Given the description of an element on the screen output the (x, y) to click on. 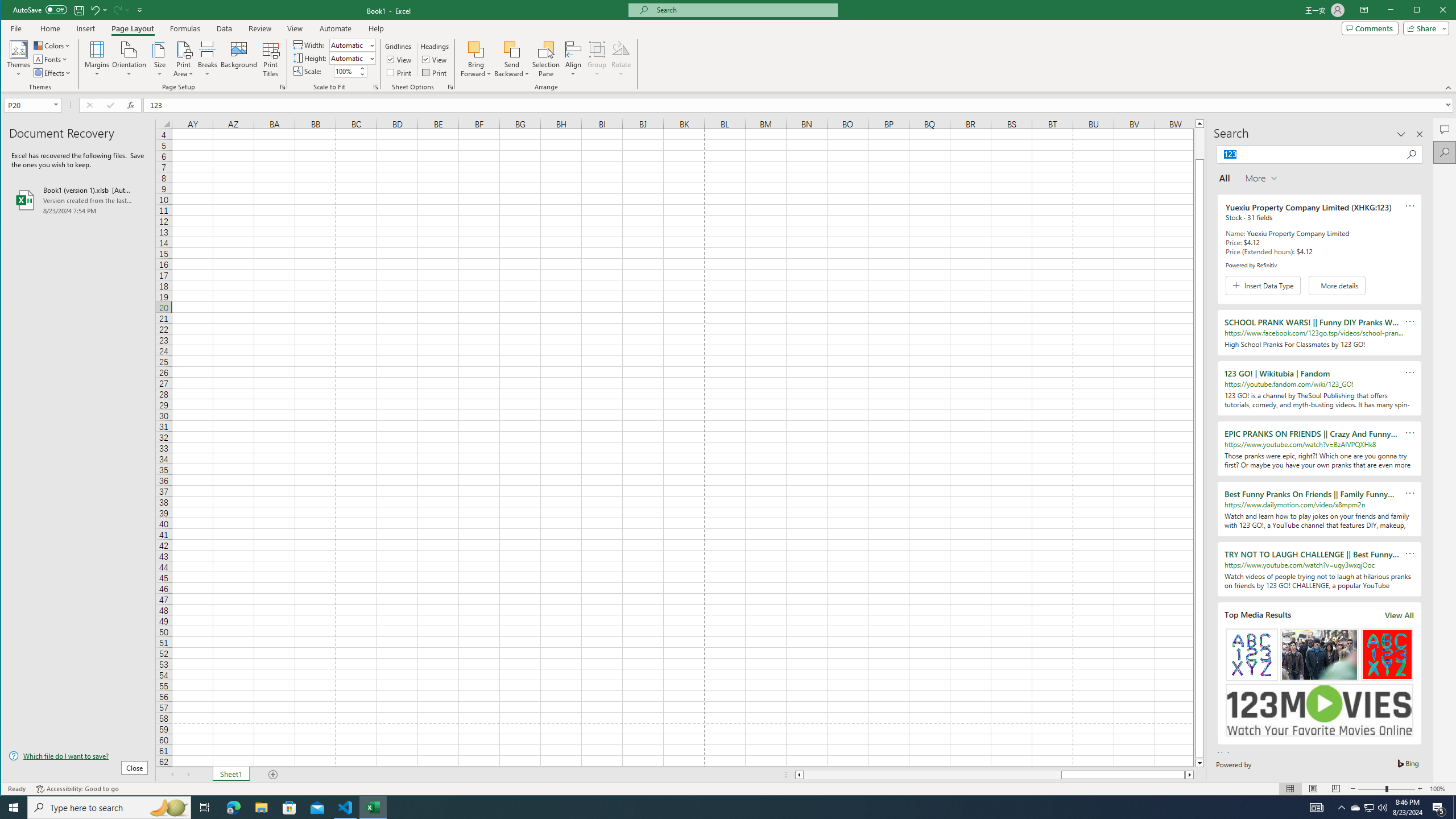
Size (159, 59)
Effects (1355, 807)
Rotate (53, 72)
